Given the description of an element on the screen output the (x, y) to click on. 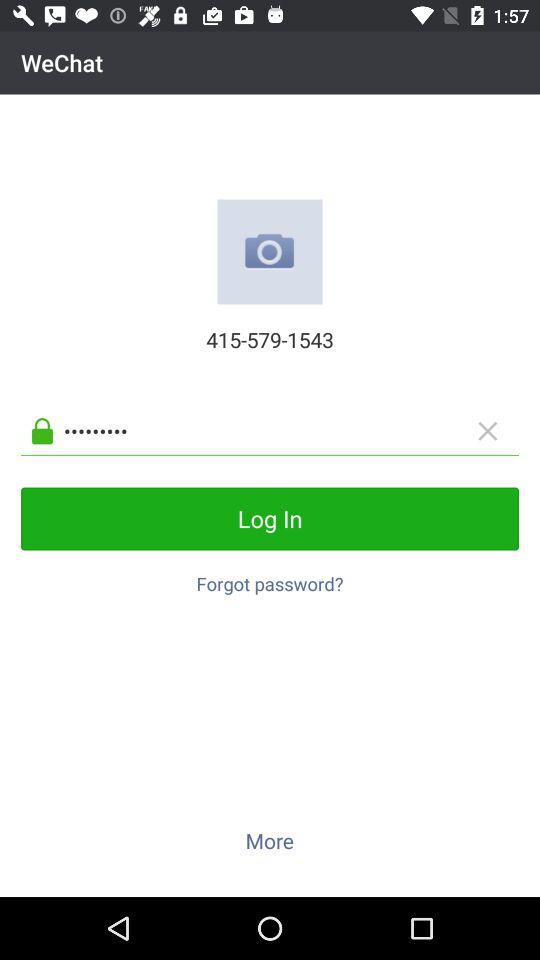
select the log in button (270, 518)
